Given the description of an element on the screen output the (x, y) to click on. 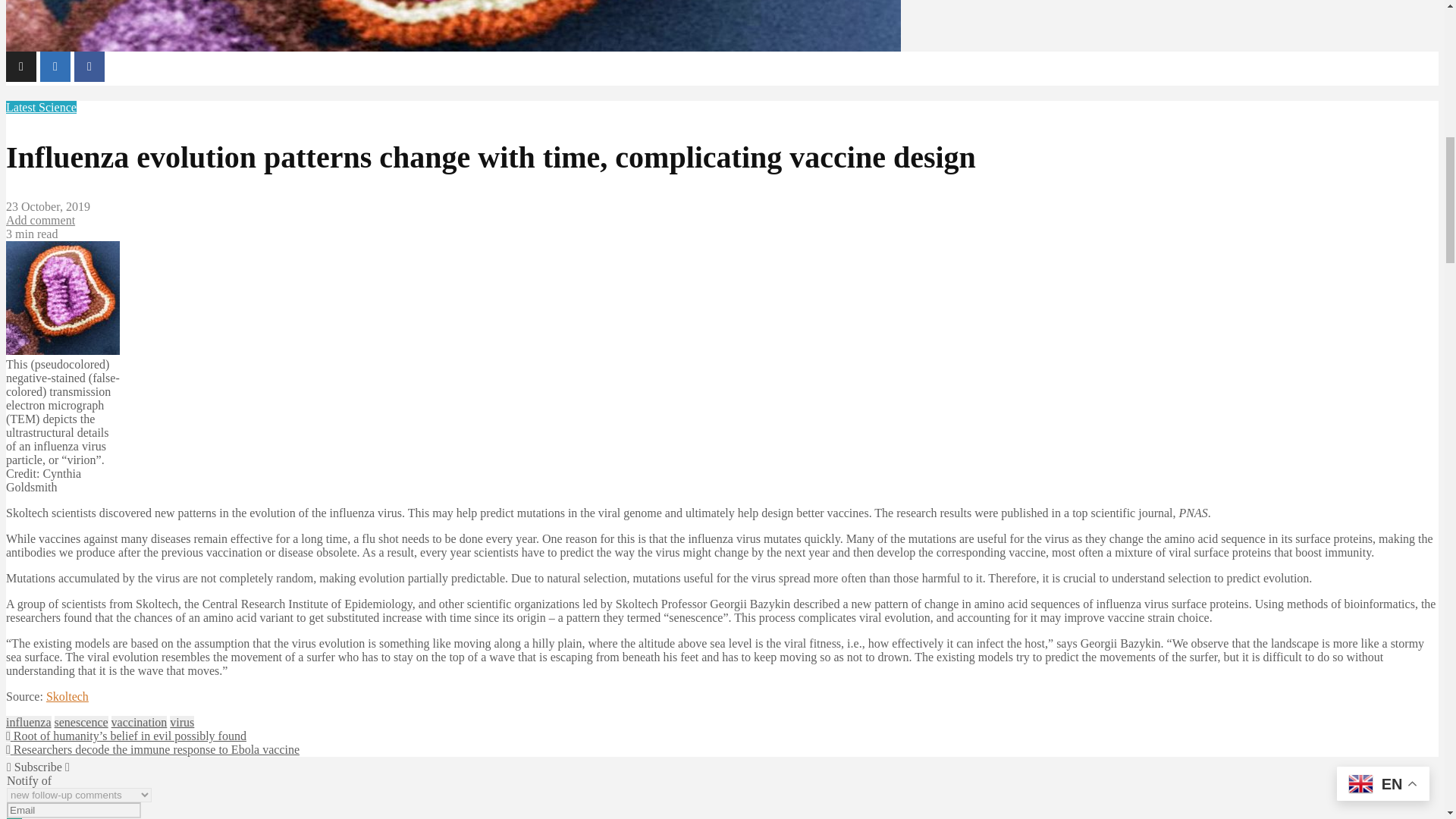
Skoltech (67, 696)
Add comment (40, 219)
Latest Science (41, 106)
